Given the description of an element on the screen output the (x, y) to click on. 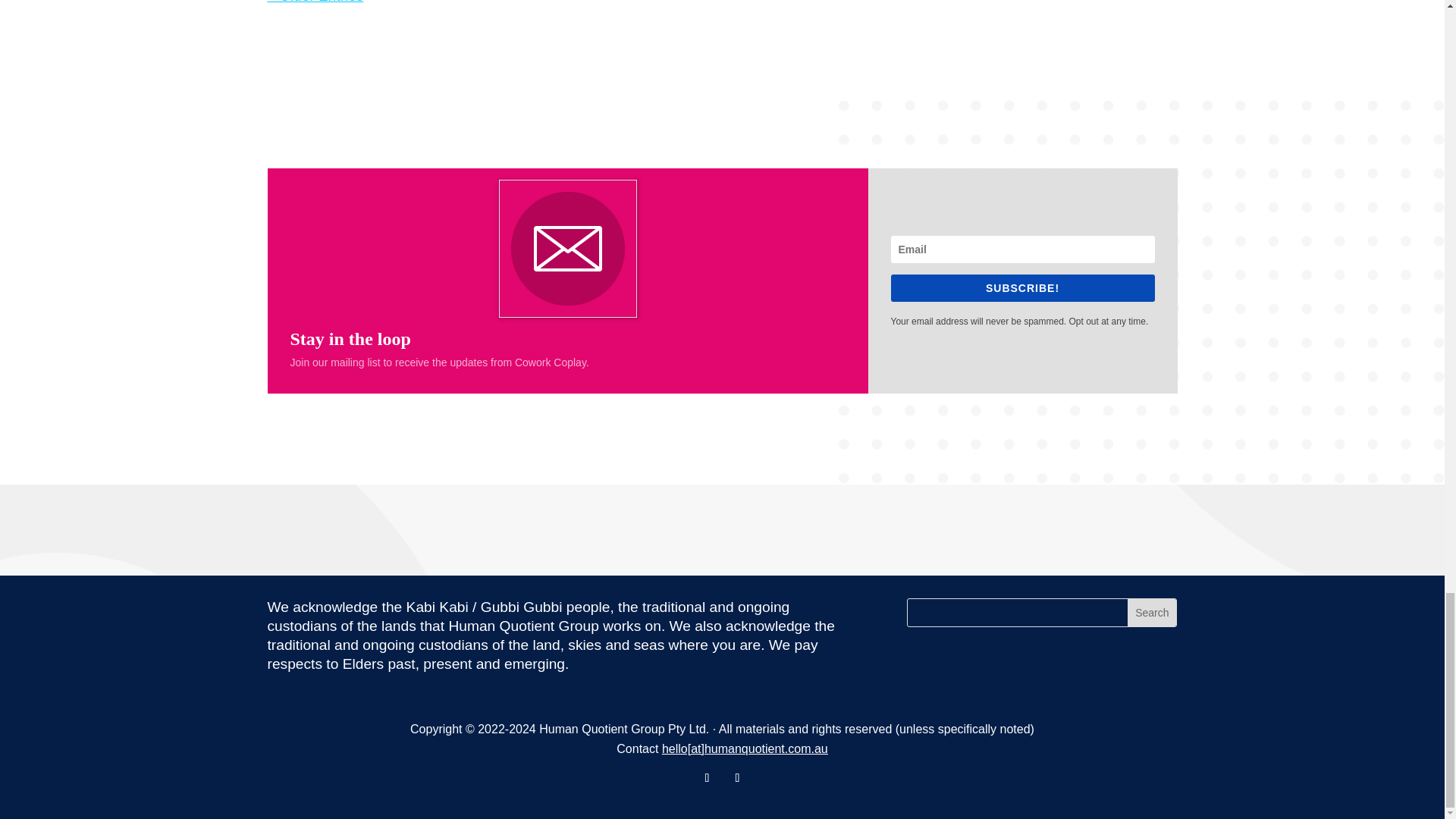
SUBSCRIBE! (1021, 288)
Search (1151, 612)
Search (1151, 612)
Search (1151, 612)
Follow on Instagram (737, 777)
Follow on Facebook (706, 777)
